Given the description of an element on the screen output the (x, y) to click on. 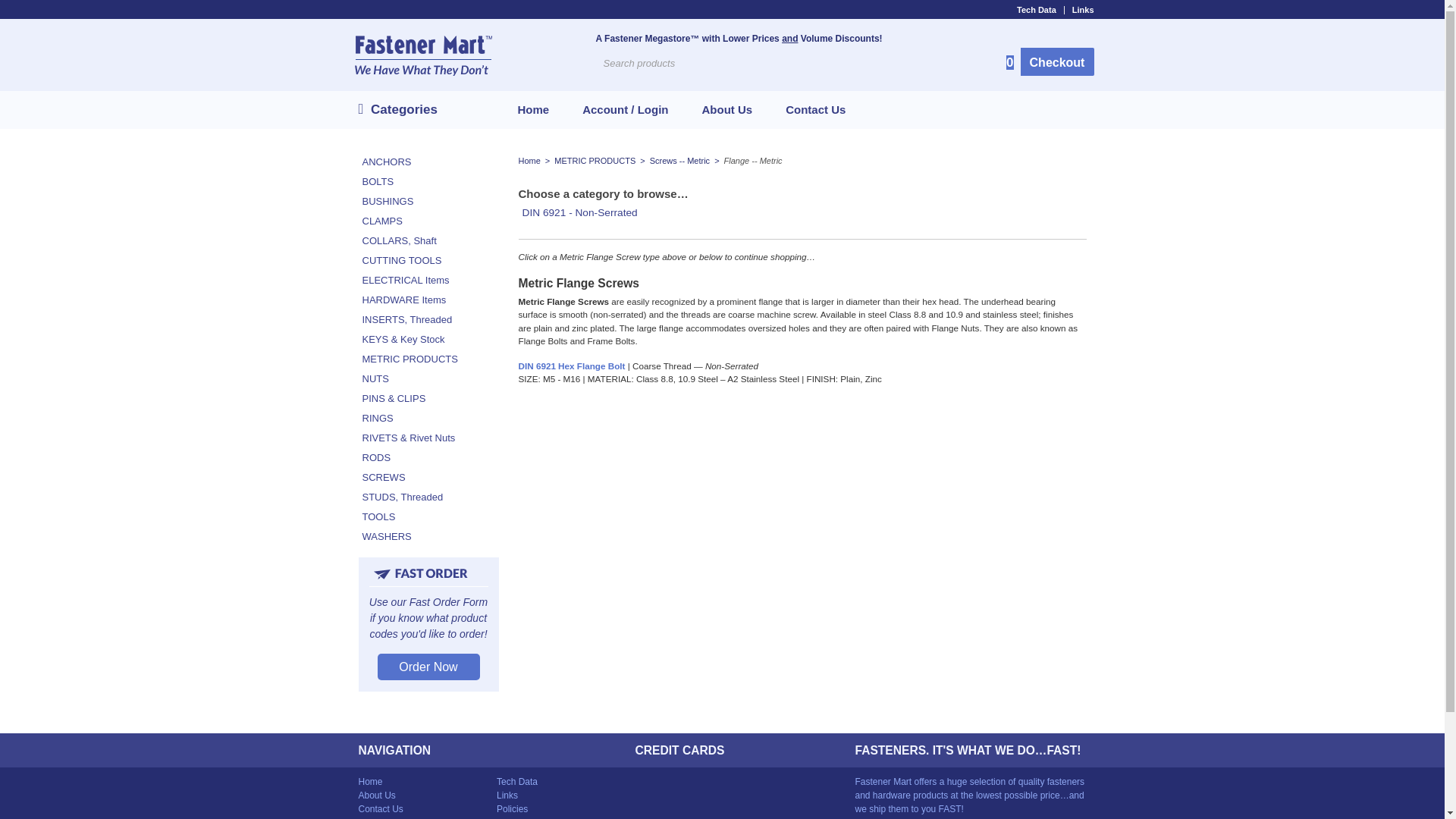
Shop Now (801, 212)
BUSHINGS (427, 200)
Search (838, 63)
Home (529, 160)
HARDWARE Items (427, 299)
Links (1079, 9)
Screws -- Metric (679, 160)
STUDS, Threaded (427, 496)
COLLARS, Shaft (427, 240)
NUTS (427, 378)
